Given the description of an element on the screen output the (x, y) to click on. 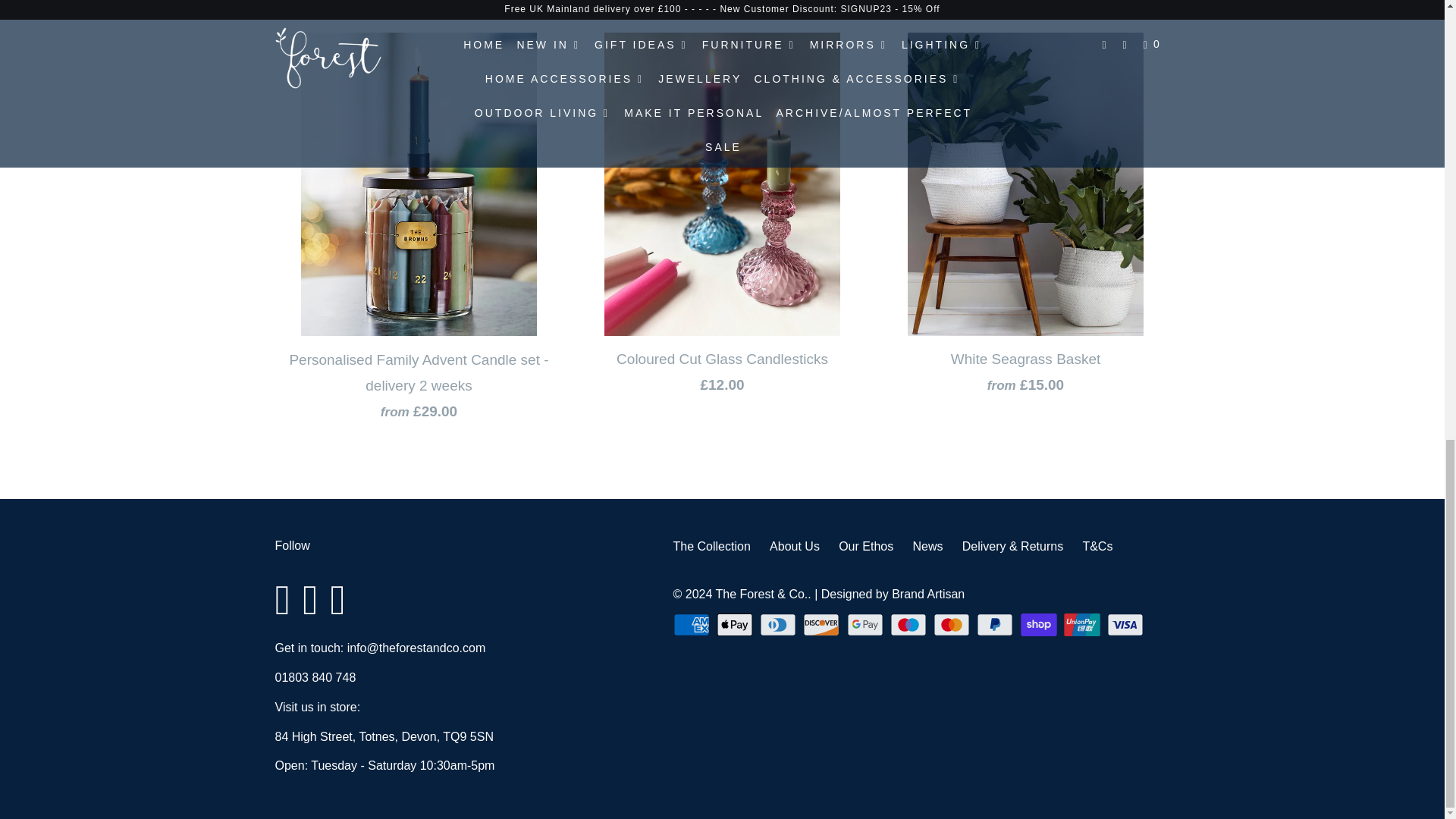
Mastercard (952, 624)
Discover (823, 624)
Shop Pay (1039, 624)
PayPal (996, 624)
Union Pay (1083, 624)
Google Pay (866, 624)
American Express (692, 624)
Visa (1126, 624)
Diners Club (779, 624)
Maestro (909, 624)
